Given the description of an element on the screen output the (x, y) to click on. 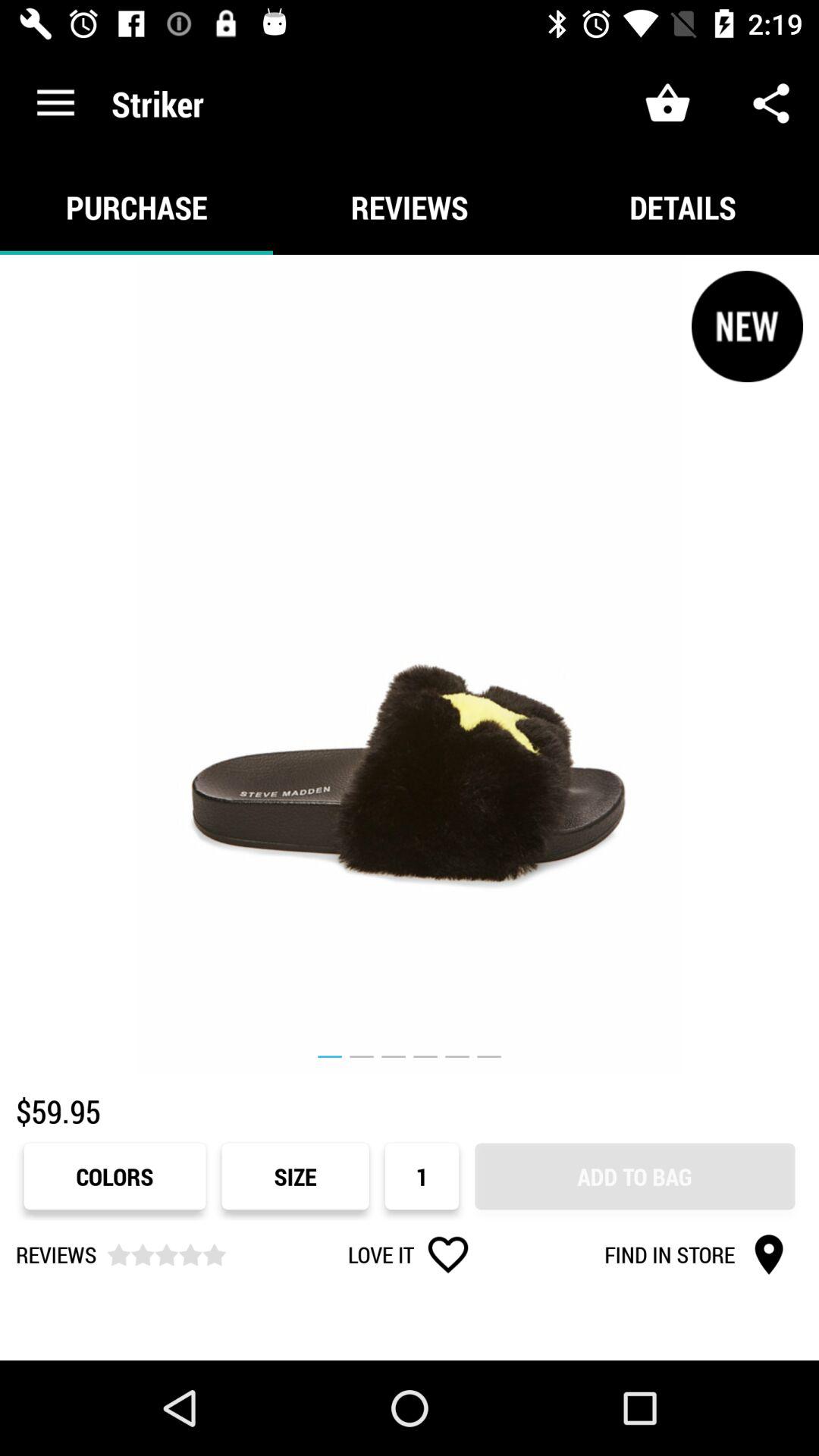
turn off icon above $59.95 item (409, 663)
